Given the description of an element on the screen output the (x, y) to click on. 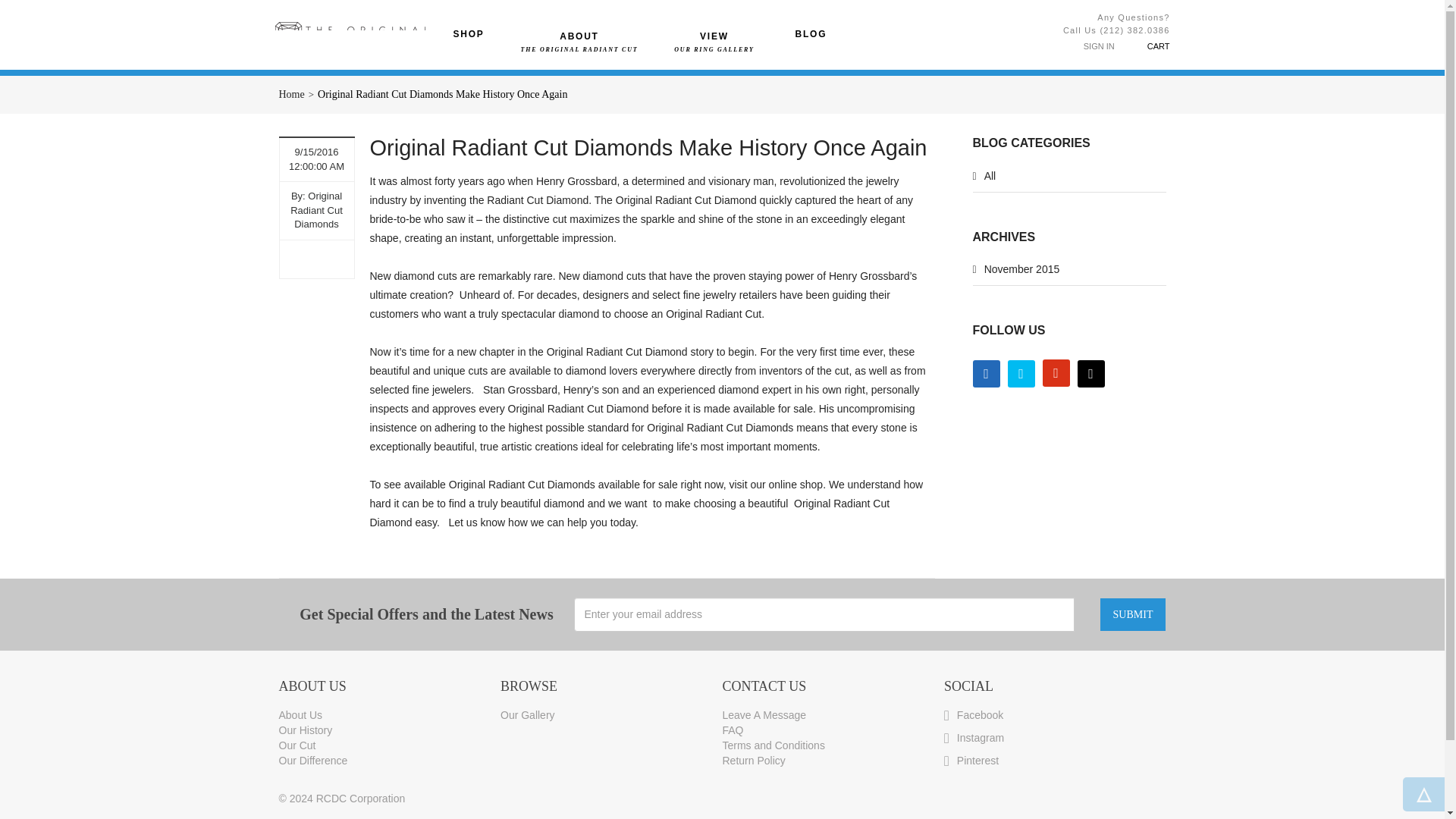
BLOG (810, 34)
Share (317, 260)
SHOP (468, 34)
My Account (1099, 45)
SIGN IN (1099, 45)
CART (1142, 46)
